Given the description of an element on the screen output the (x, y) to click on. 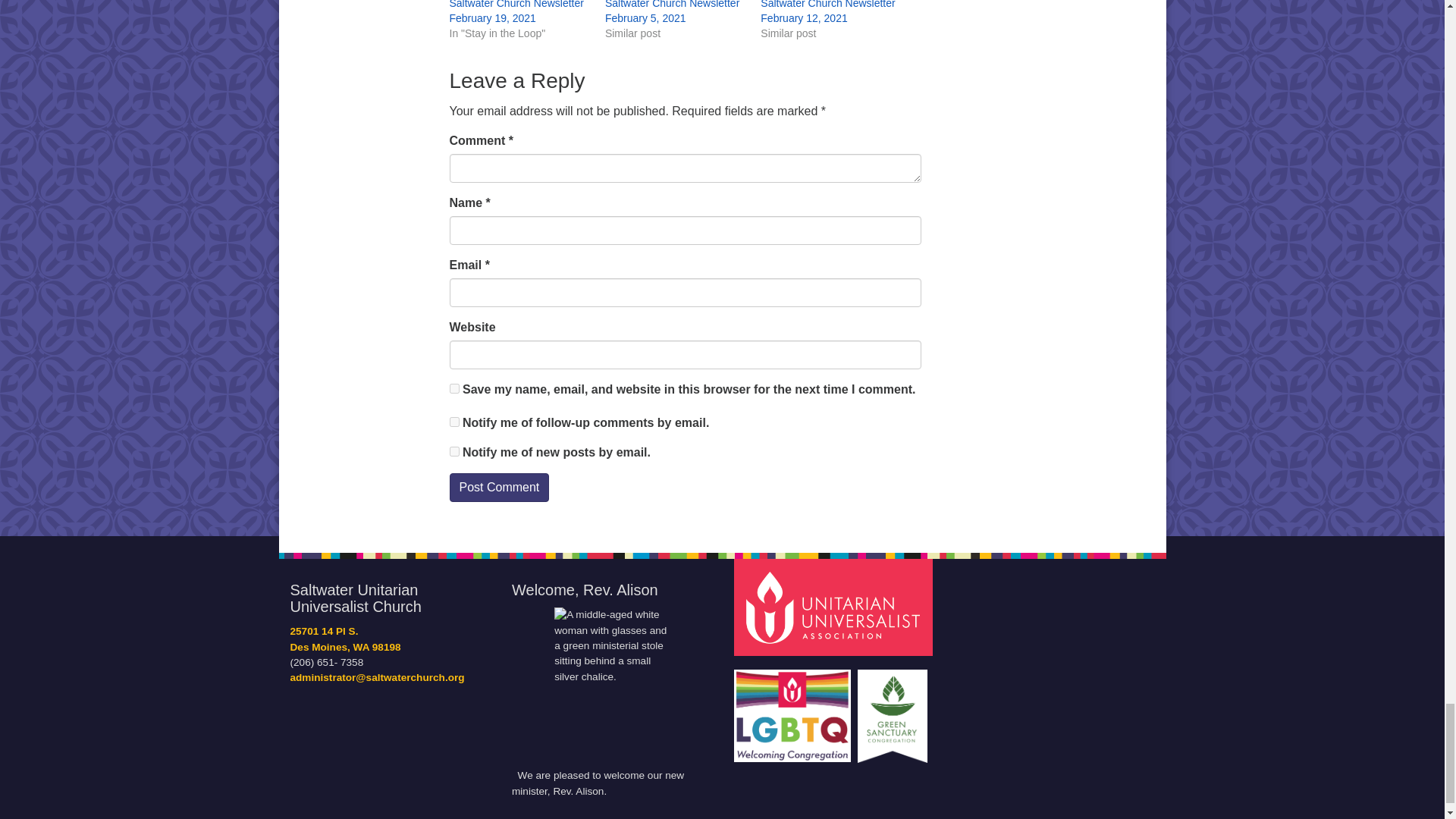
Post Comment (498, 487)
subscribe (453, 421)
yes (453, 388)
subscribe (453, 451)
